Given the description of an element on the screen output the (x, y) to click on. 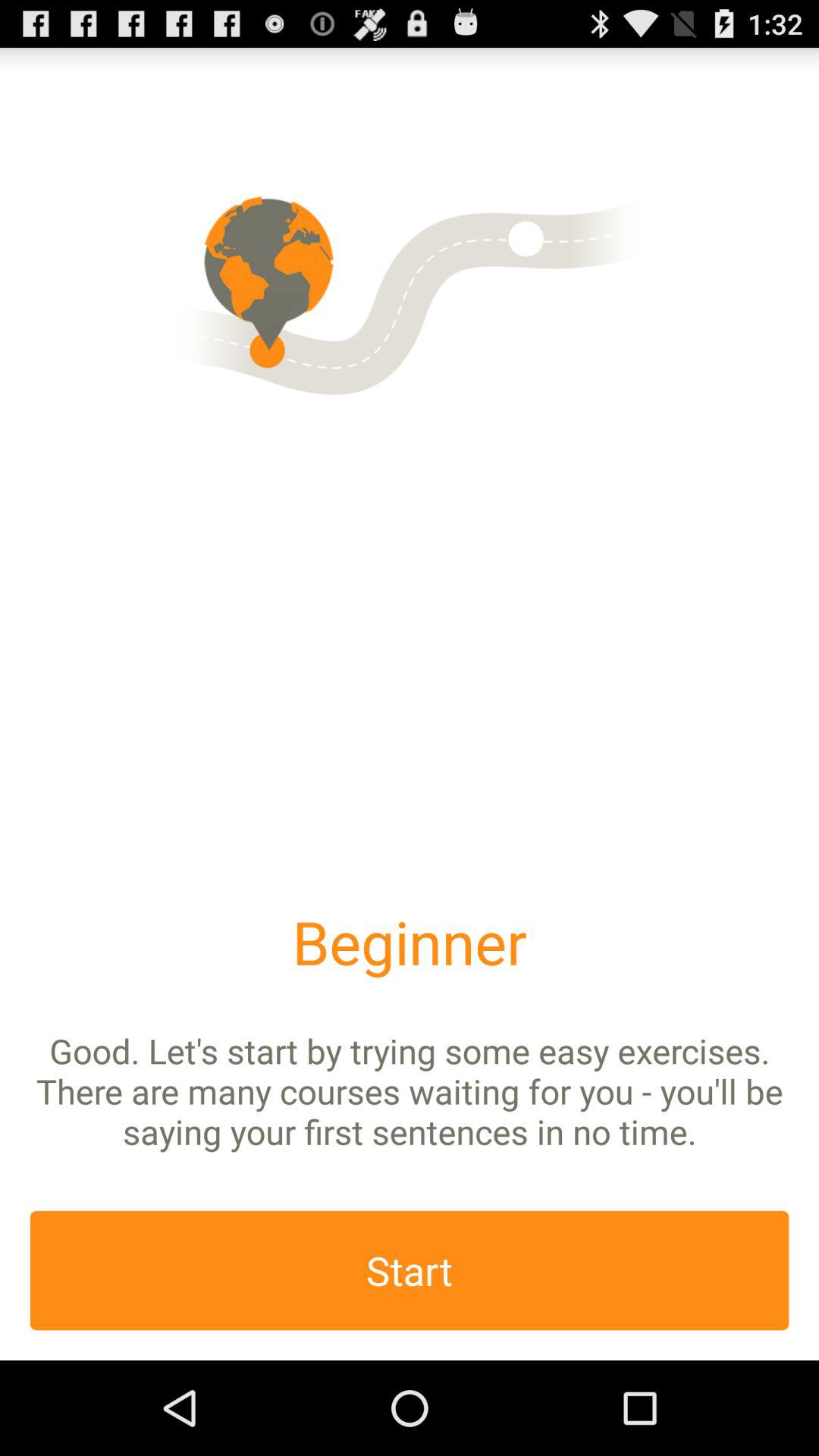
click on start option (409, 1270)
select the image above beginner (409, 291)
select the image above beginner (409, 291)
click orange dot below globe icon (267, 350)
